Given the description of an element on the screen output the (x, y) to click on. 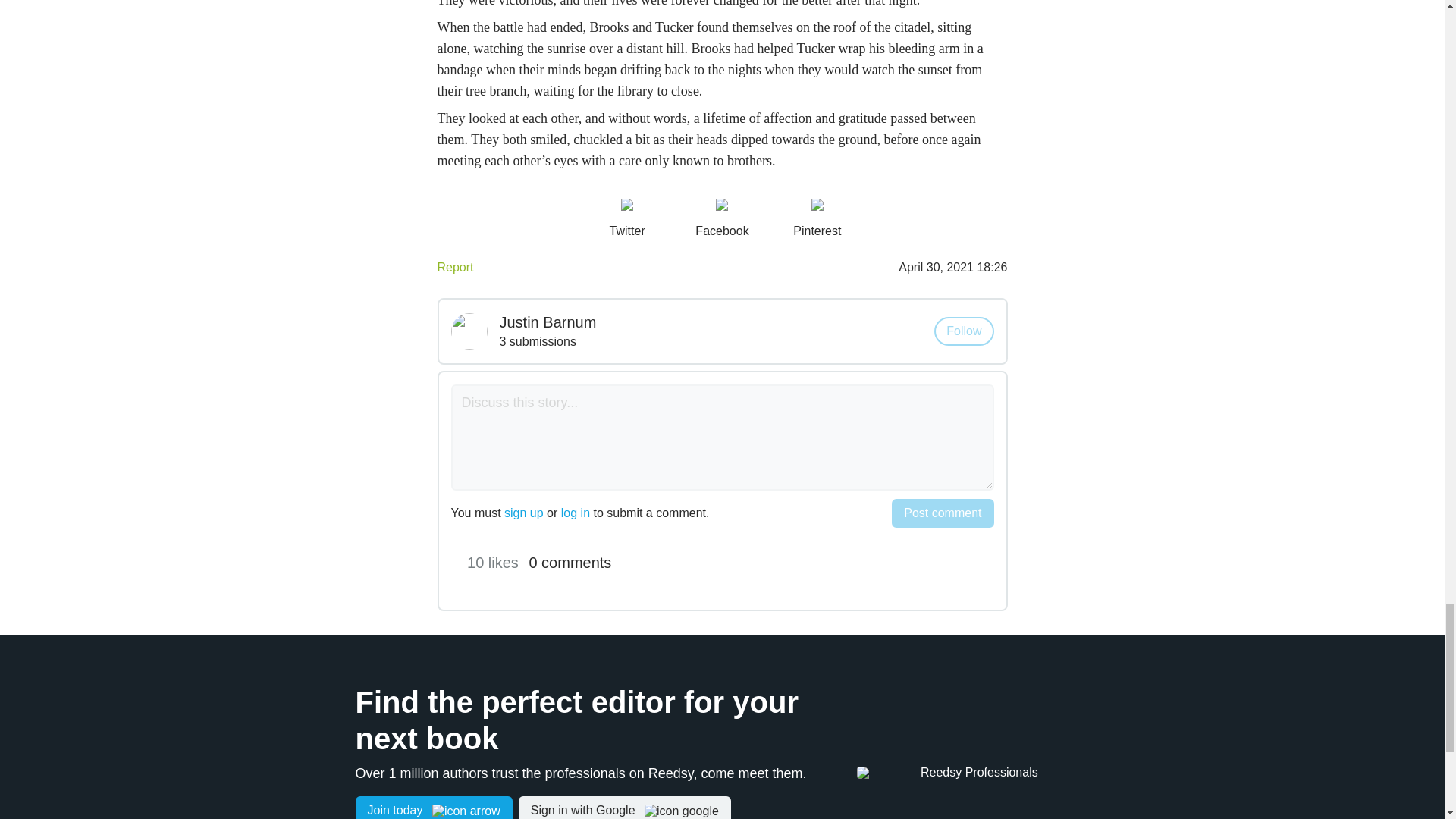
Post comment (941, 512)
Sign up (433, 807)
Sign in with Google (624, 807)
